Given the description of an element on the screen output the (x, y) to click on. 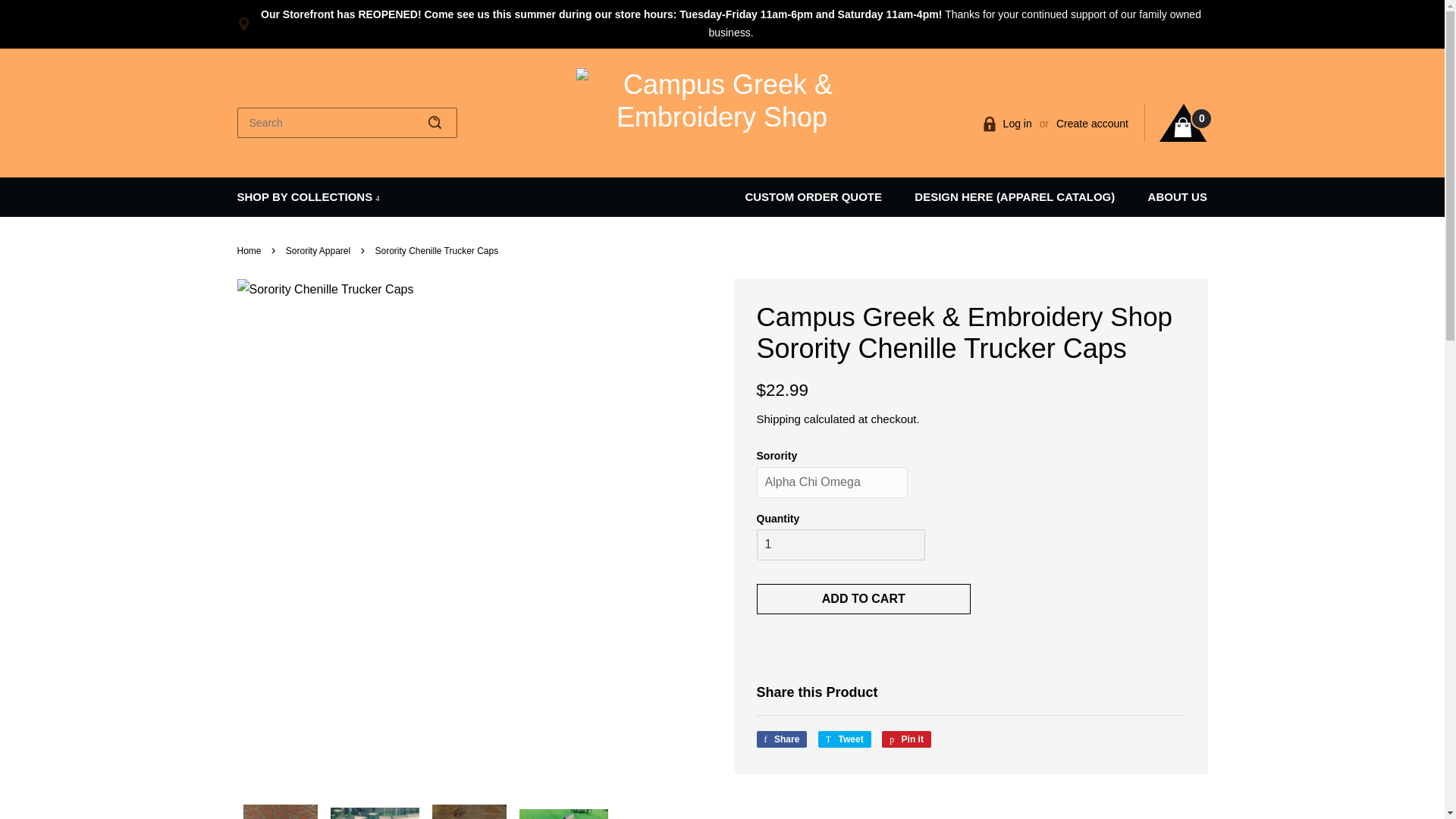
Back to the frontpage (249, 250)
CUSTOM ORDER QUOTE (820, 197)
SHOP BY COLLECTIONS (306, 197)
0 (1182, 122)
Share on Facebook (782, 739)
Log in (1017, 123)
Tweet on Twitter (844, 739)
1 (840, 544)
Create account (1092, 123)
ABOUT US (1169, 197)
